Given the description of an element on the screen output the (x, y) to click on. 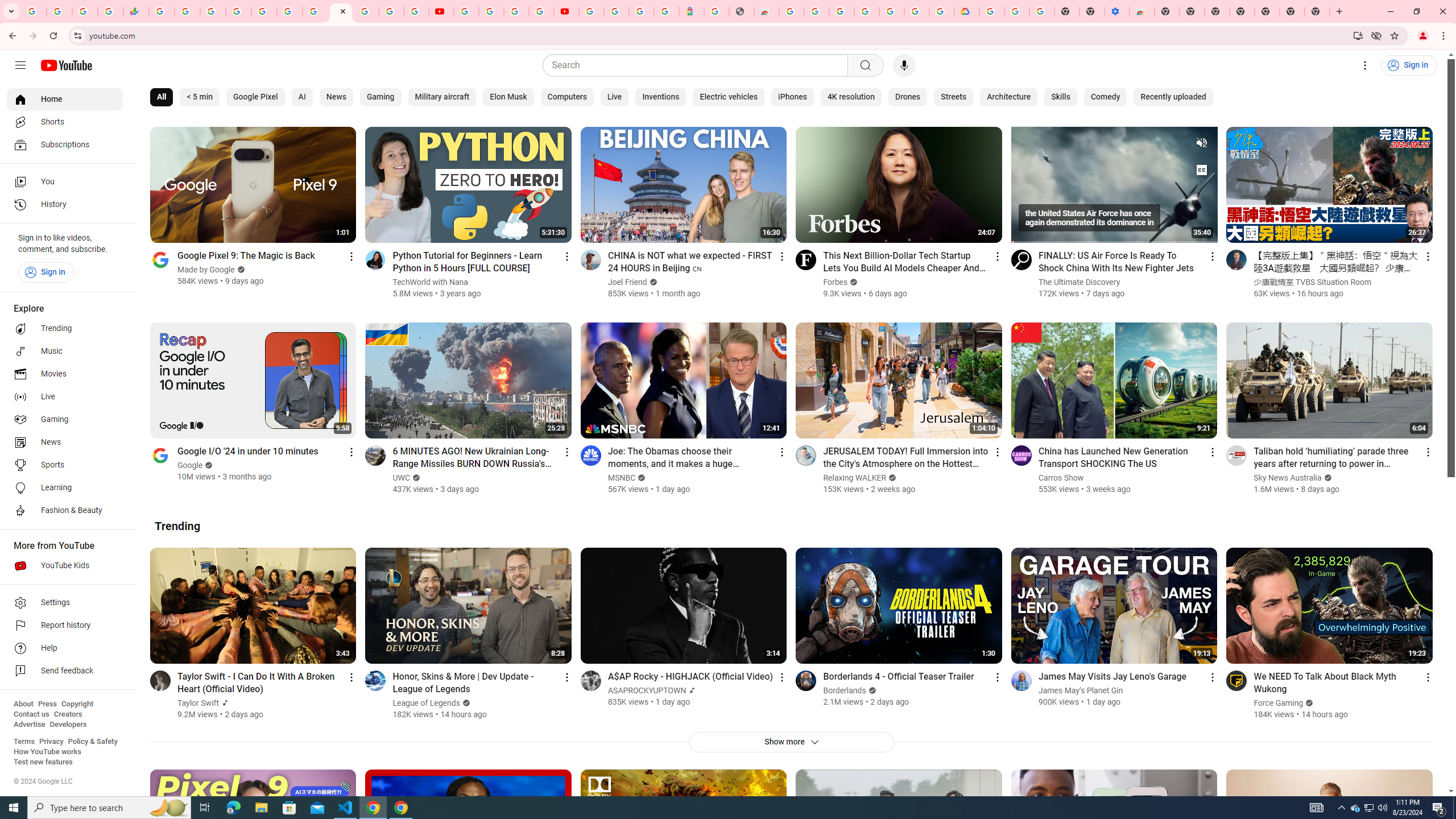
Carros Show (1061, 477)
Google Pixel (255, 97)
Sports (64, 464)
Press (46, 703)
Forbes (835, 282)
Chrome Web Store - Household (766, 11)
Military aircraft (441, 97)
Relaxing WALKER (854, 477)
News (64, 441)
Force Gaming (1278, 702)
Inventions (659, 97)
Sign in - Google Accounts (616, 11)
